Given the description of an element on the screen output the (x, y) to click on. 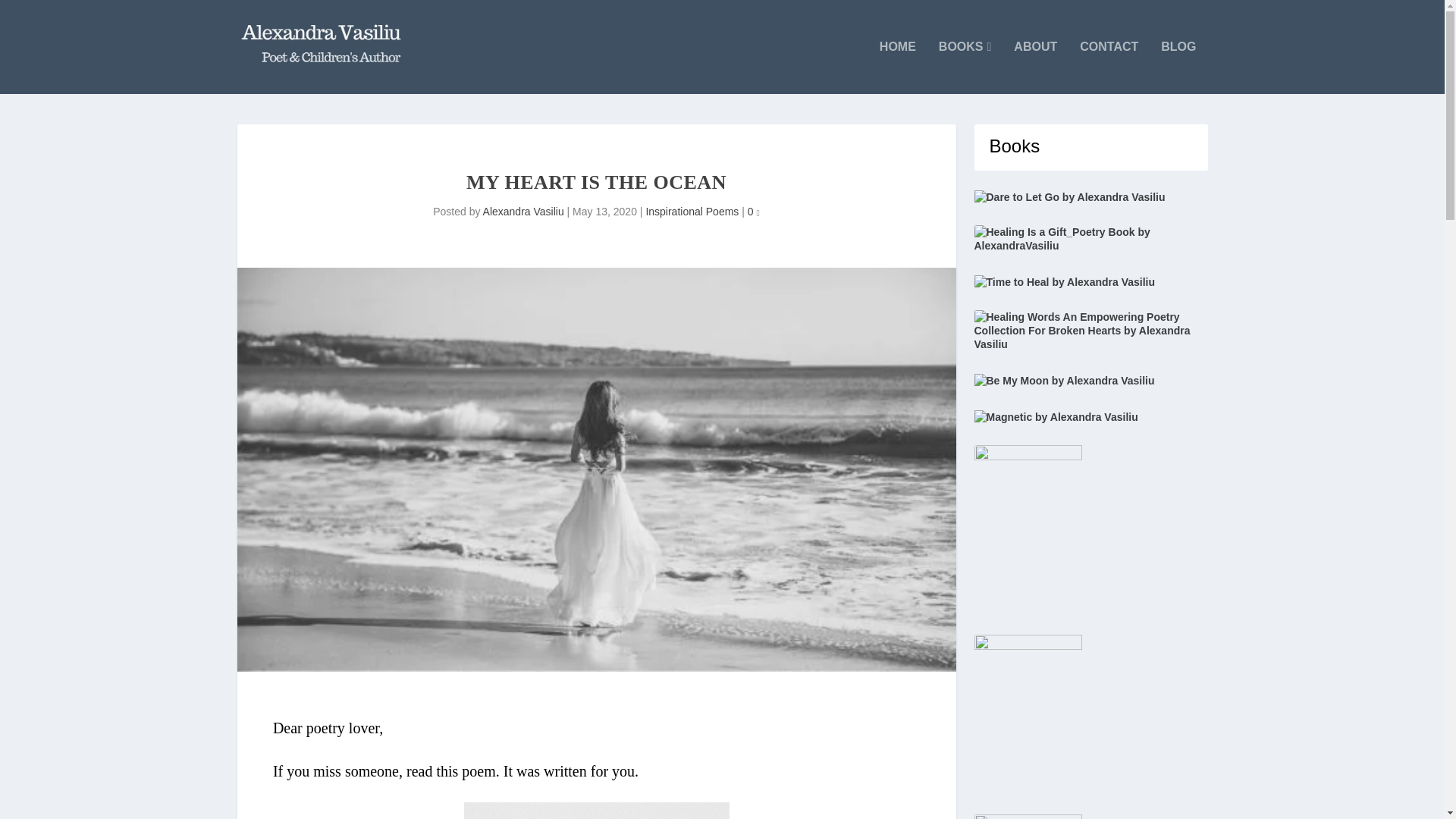
Inspirational Poems (691, 211)
Alexandra Vasiliu (523, 211)
CONTACT (1109, 67)
Posts by Alexandra Vasiliu (523, 211)
0 (754, 211)
BOOKS (965, 67)
